Given the description of an element on the screen output the (x, y) to click on. 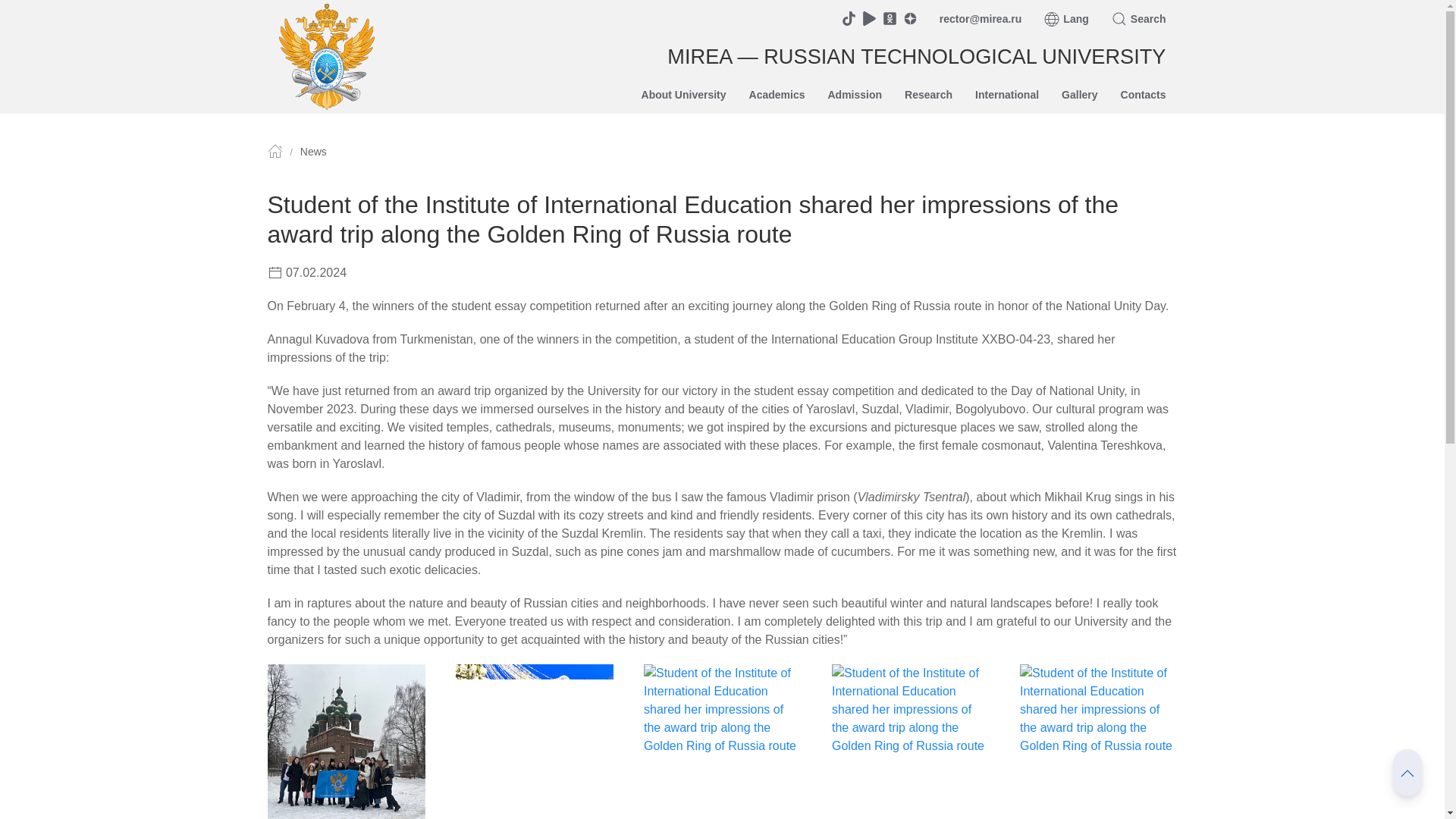
Search (1138, 18)
About University (684, 94)
Admission (854, 94)
News (312, 151)
Lang (1065, 18)
Academics (777, 94)
